Given the description of an element on the screen output the (x, y) to click on. 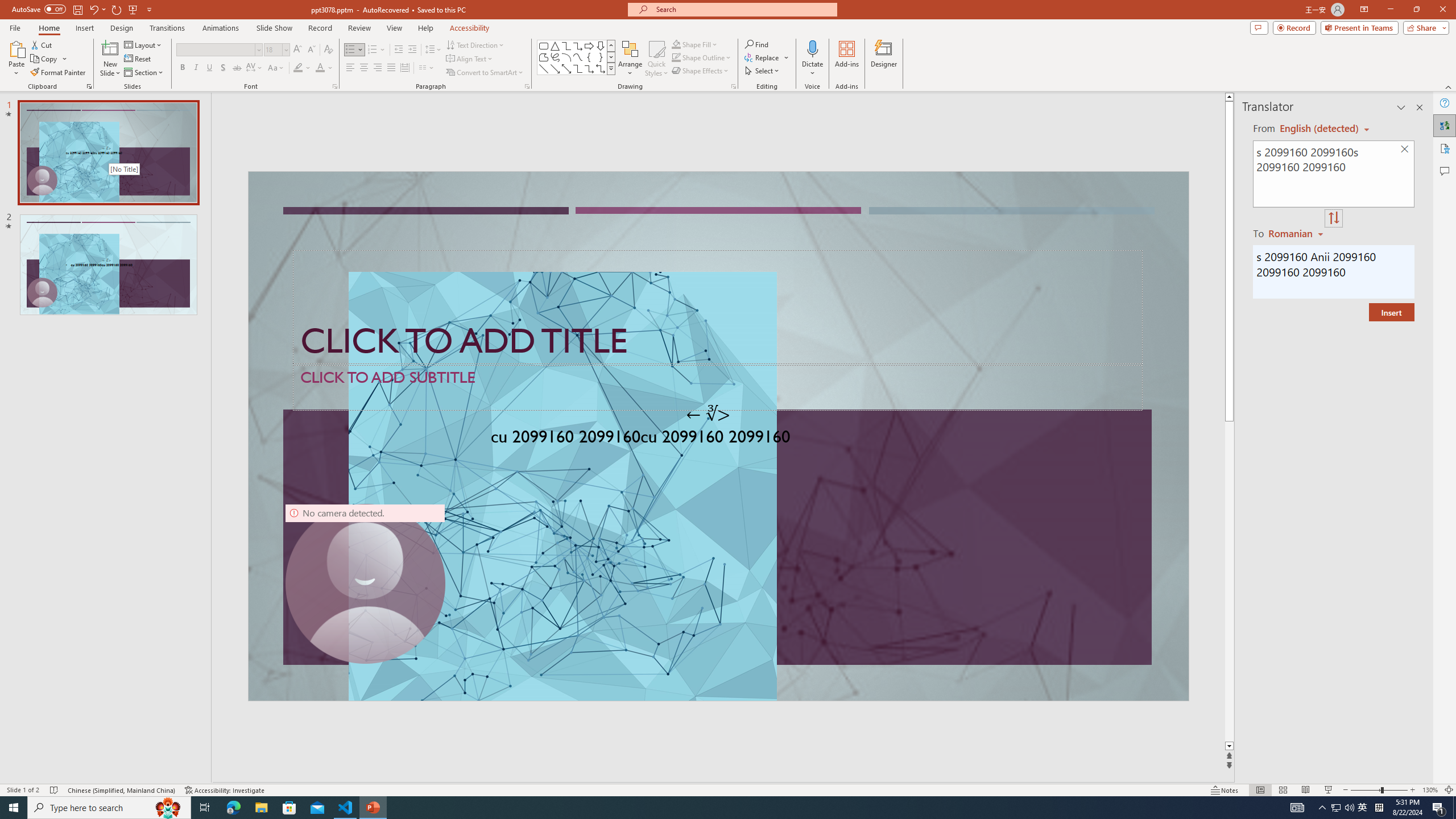
Clear text (1404, 149)
Zoom 130% (1430, 790)
